Given the description of an element on the screen output the (x, y) to click on. 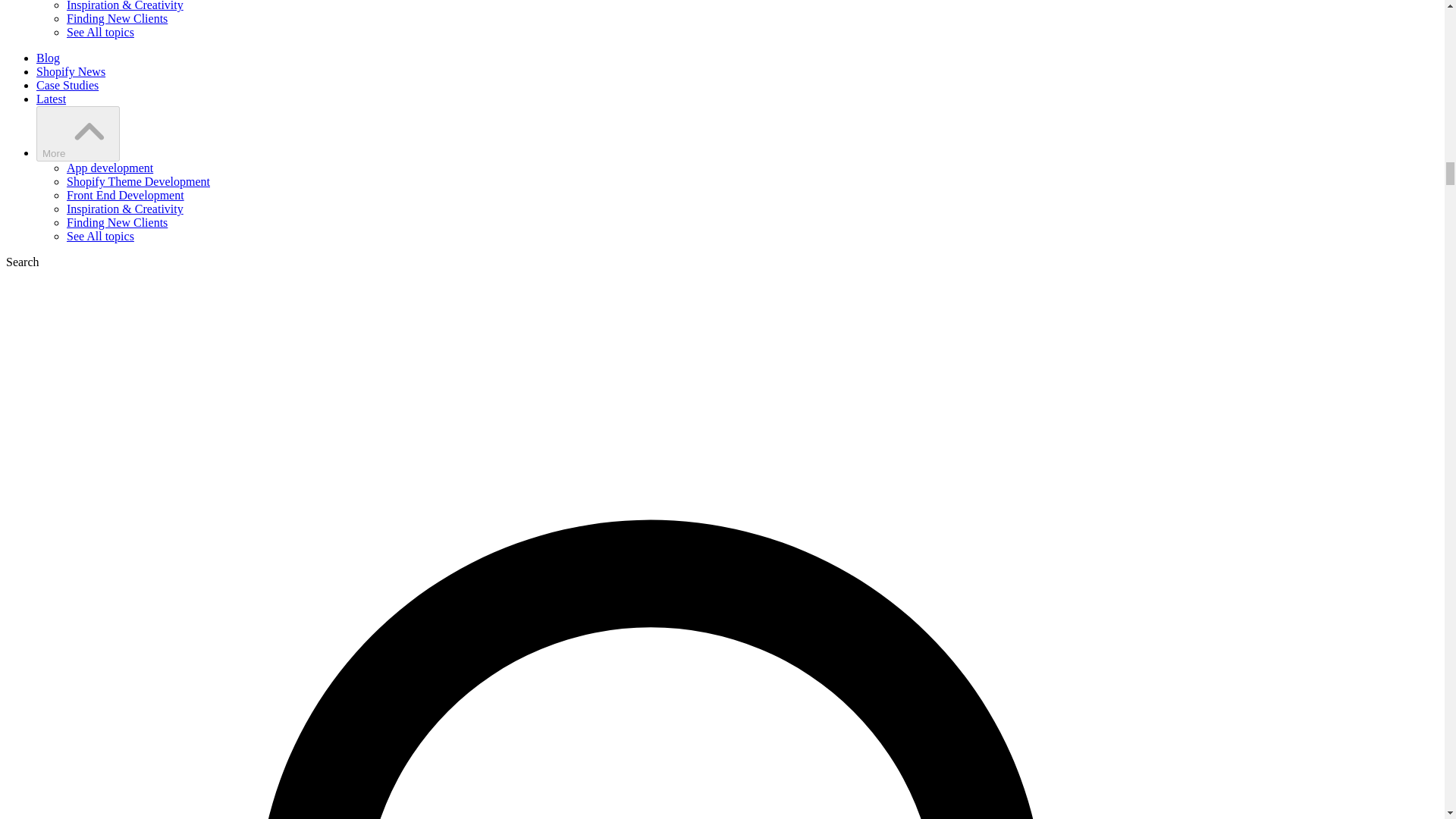
Blog (47, 57)
More (77, 133)
Shopify News (70, 71)
Shopify Theme Development (137, 181)
See All topics (99, 31)
Front End Development (125, 195)
Finding New Clients (116, 18)
Latest (50, 98)
Case Studies (67, 84)
See All topics (99, 236)
